Given the description of an element on the screen output the (x, y) to click on. 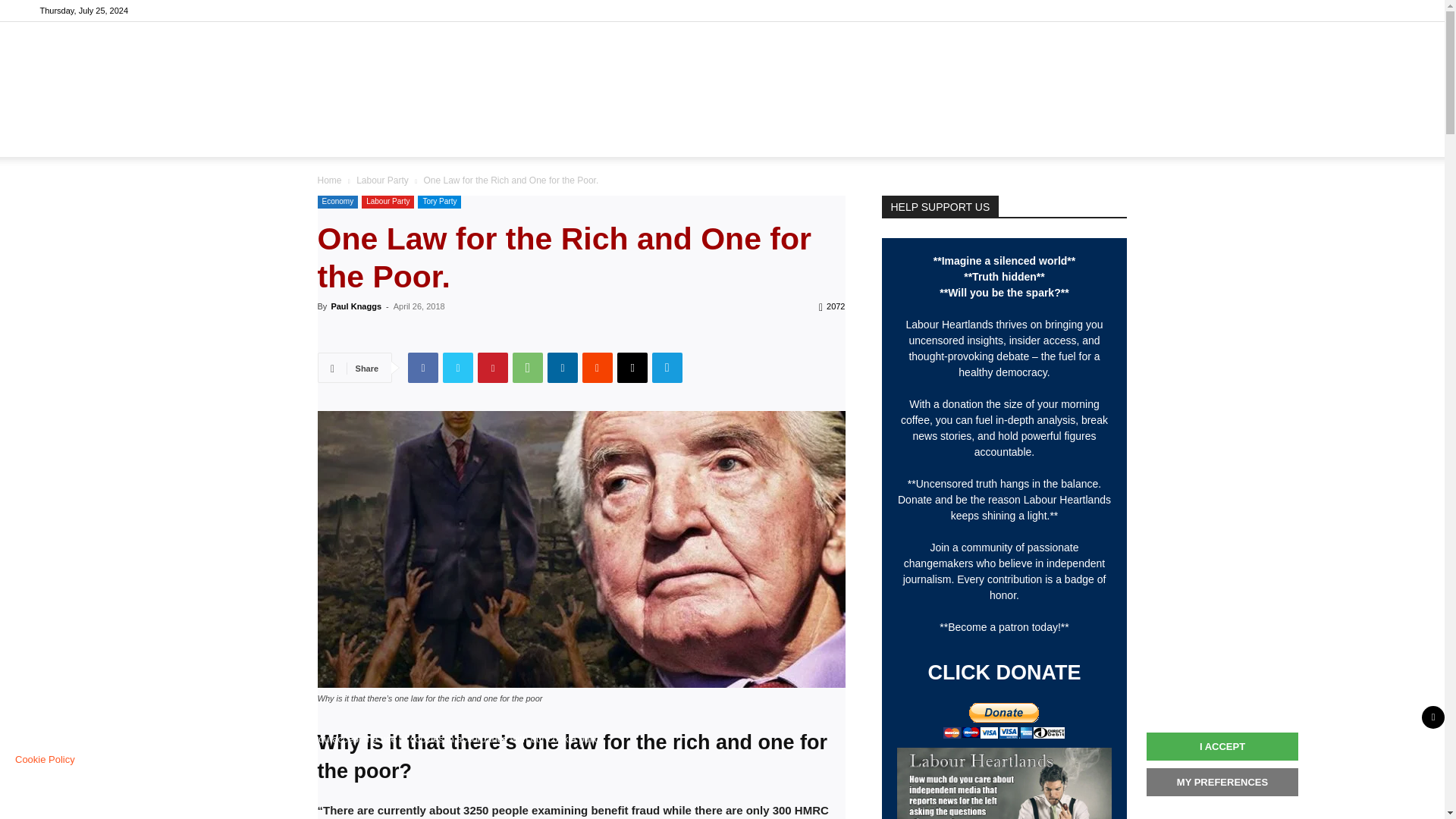
HOME (404, 138)
POLITICS (472, 138)
topFacebookLike (430, 333)
View all posts in Labour Party (382, 180)
